Given the description of an element on the screen output the (x, y) to click on. 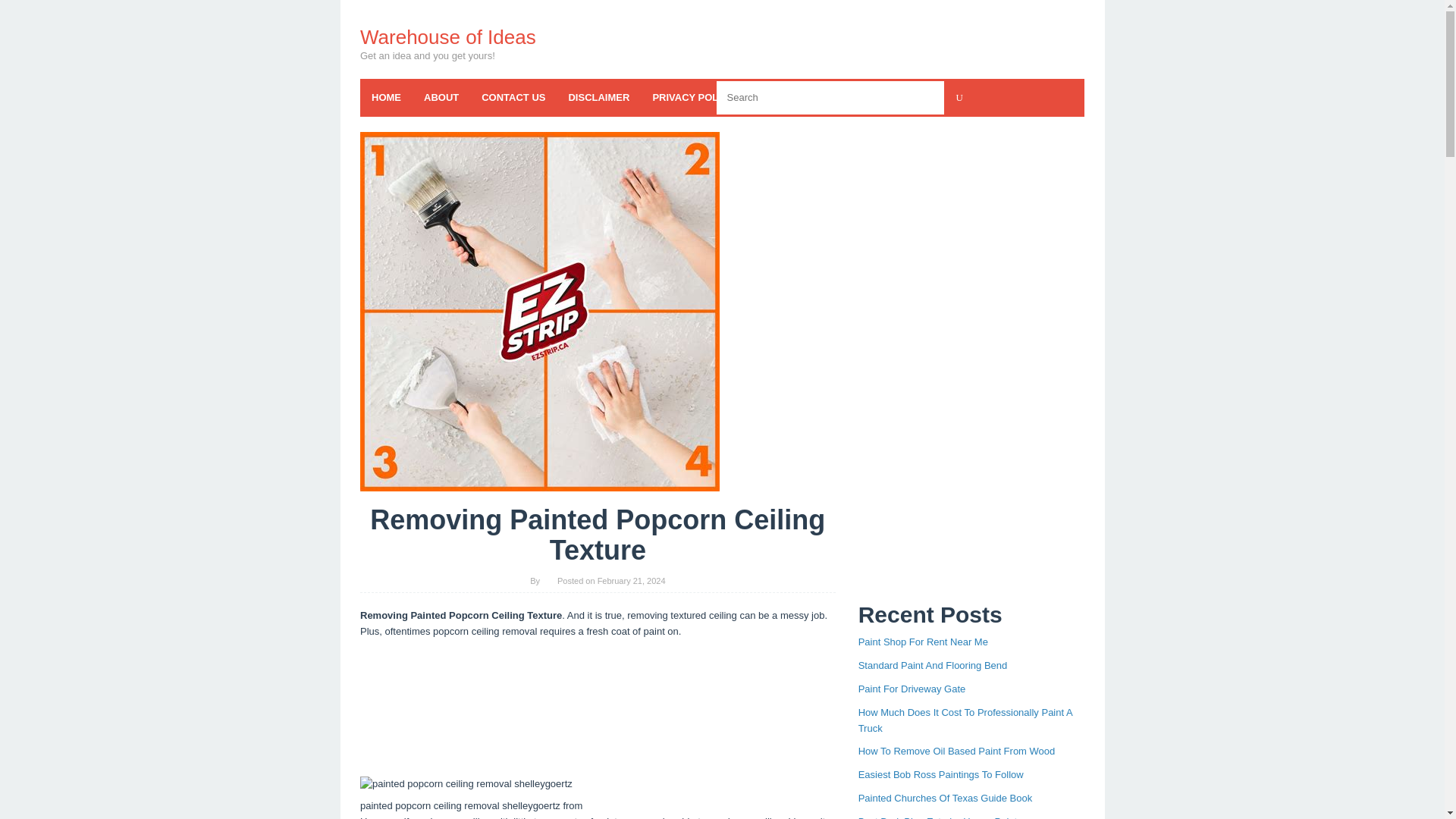
SITEMAP (910, 97)
DISCLAIMER (598, 97)
Removing Painted Popcorn Ceiling Texture (539, 311)
Warehouse of Ideas (447, 36)
PRIVACY POLICY (692, 97)
How To Remove Oil Based Paint From Wood (957, 750)
Paint For Driveway Gate (912, 688)
Painted Churches Of Texas Guide Book (945, 797)
CONTACT US (513, 97)
How Much Does It Cost To Professionally Paint A Truck (965, 719)
Easiest Bob Ross Paintings To Follow (941, 774)
Standard Paint And Flooring Bend (933, 665)
Paint Shop For Rent Near Me (923, 641)
Best Dark Blue Exterior House Paint (938, 817)
Warehouse of Ideas (447, 36)
